Given the description of an element on the screen output the (x, y) to click on. 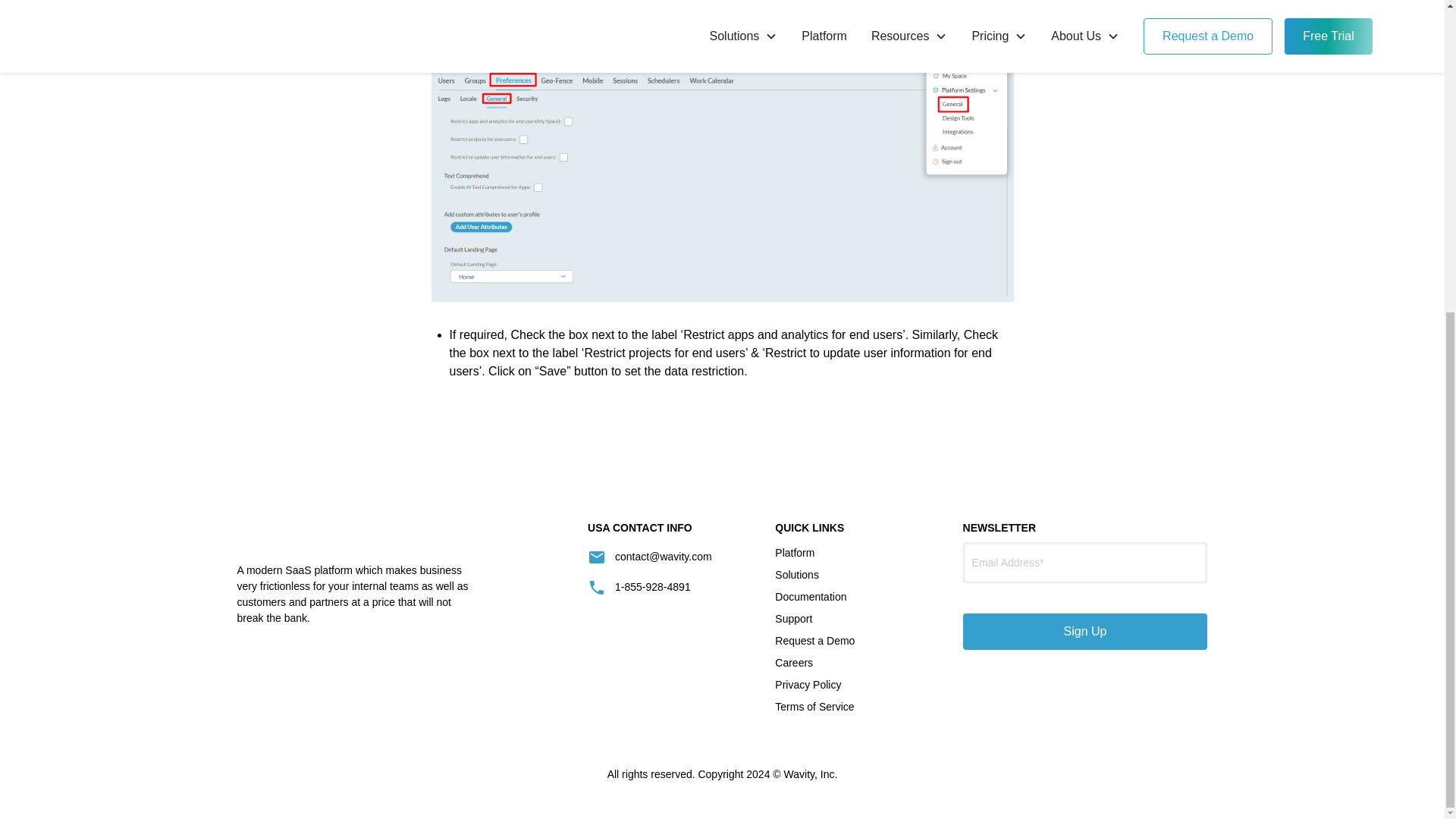
Privacy Policy (807, 685)
Careers (793, 662)
Sign Up (1085, 631)
Support (793, 618)
1-855-928-4891 (669, 587)
Documentation (809, 597)
Request a Demo (814, 640)
Solutions (796, 575)
Platform (793, 553)
Terms of Service (813, 707)
